Given the description of an element on the screen output the (x, y) to click on. 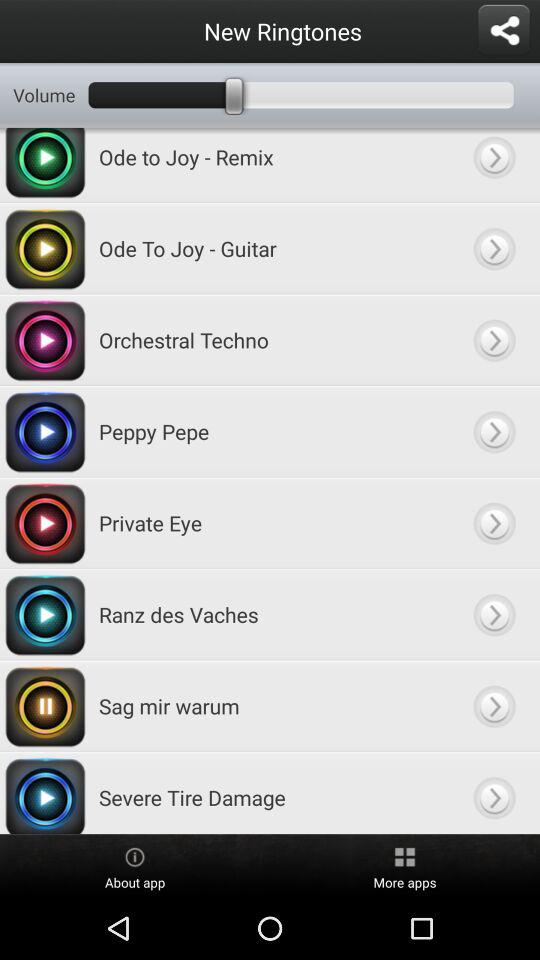
share ringtones (503, 31)
